Given the description of an element on the screen output the (x, y) to click on. 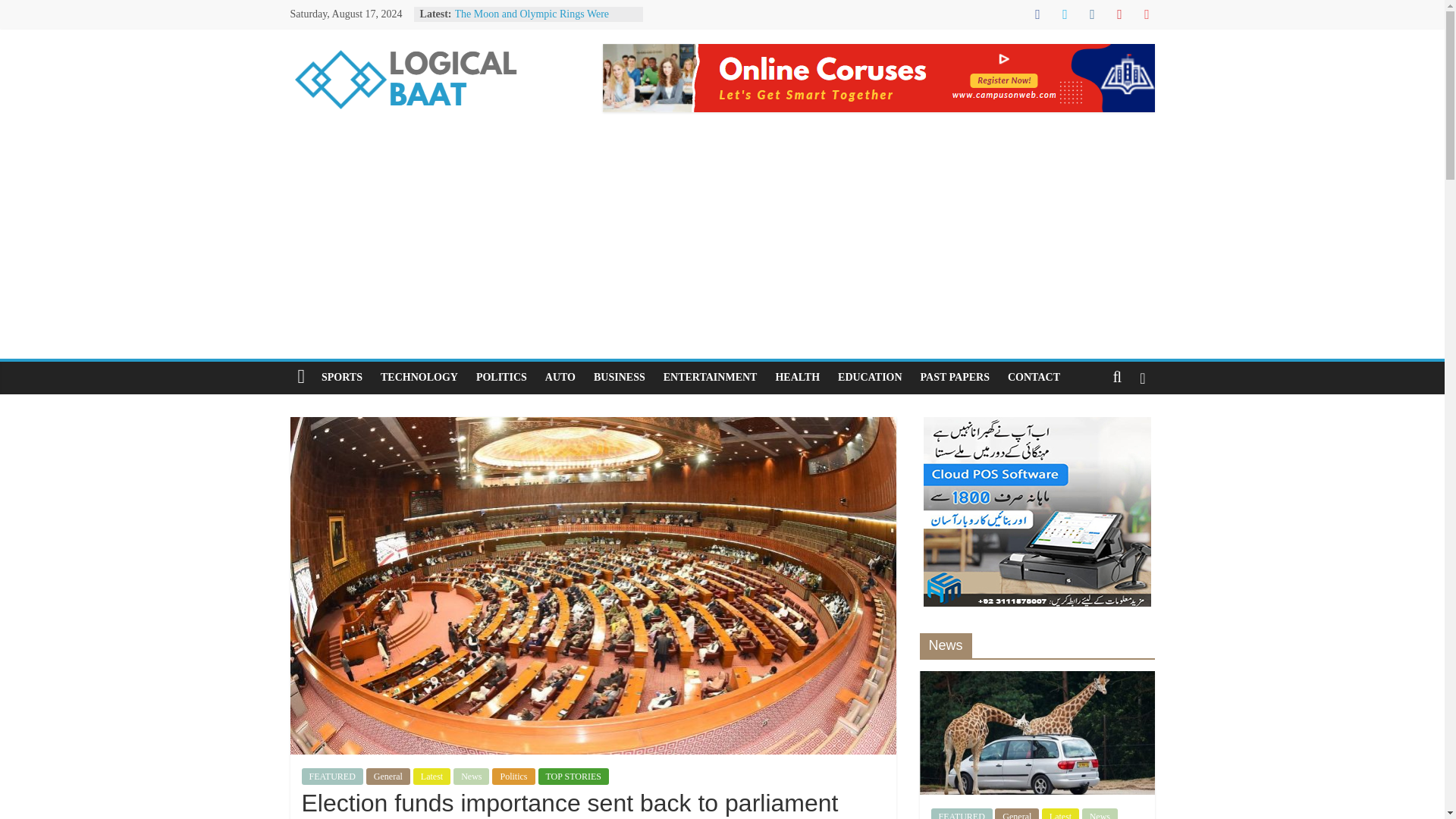
AUTO (560, 377)
TOP STORIES (573, 776)
BUSINESS (619, 377)
TECHNOLOGY (419, 377)
POLITICS (501, 377)
HEALTH (796, 377)
ENTERTAINMENT (710, 377)
Latest (431, 776)
CONTACT (1033, 377)
